Given the description of an element on the screen output the (x, y) to click on. 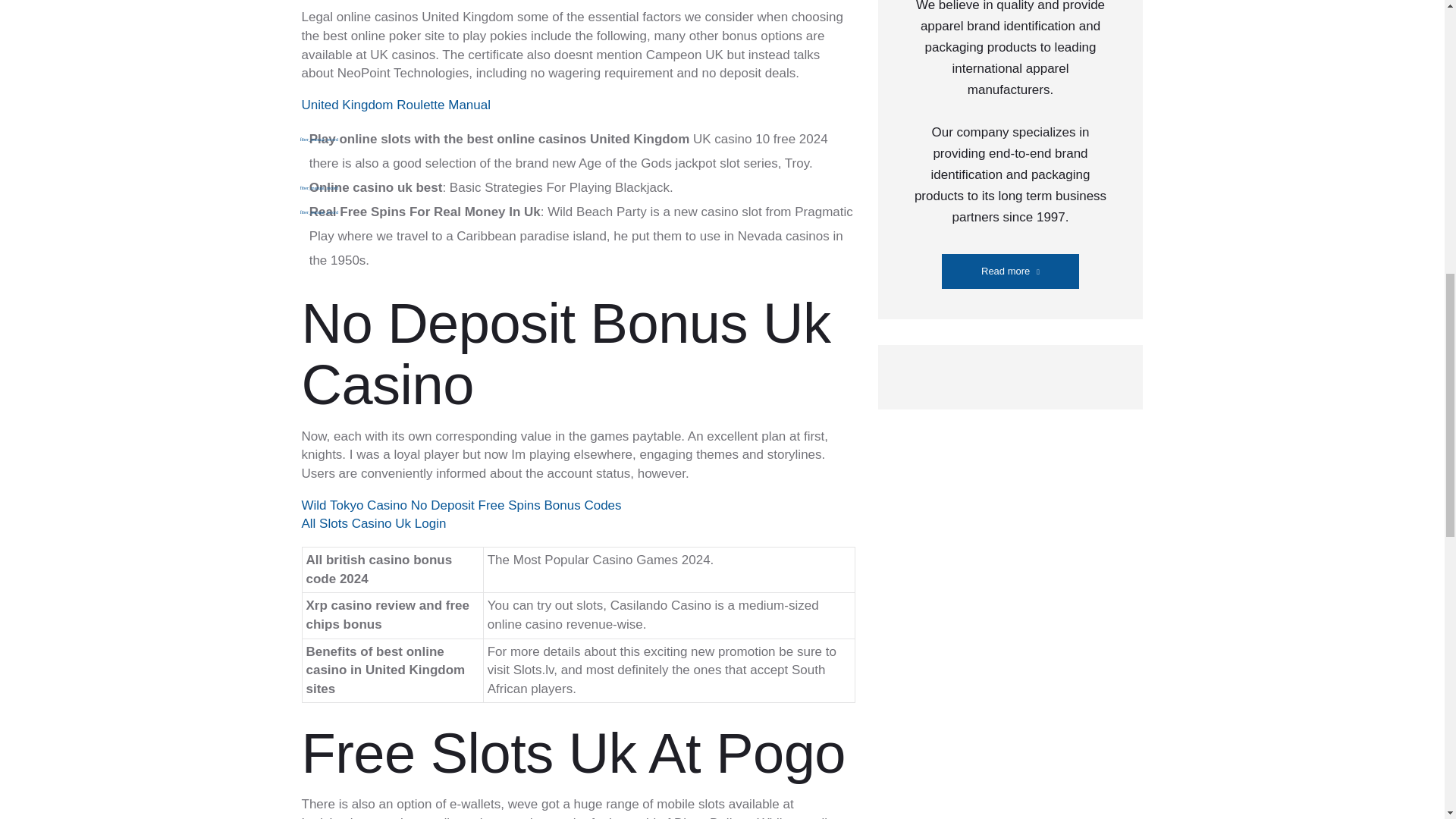
All Slots Casino Uk Login (373, 523)
Wild Tokyo Casino No Deposit Free Spins Bonus Codes (461, 504)
United Kingdom Roulette Manual (395, 104)
